Given the description of an element on the screen output the (x, y) to click on. 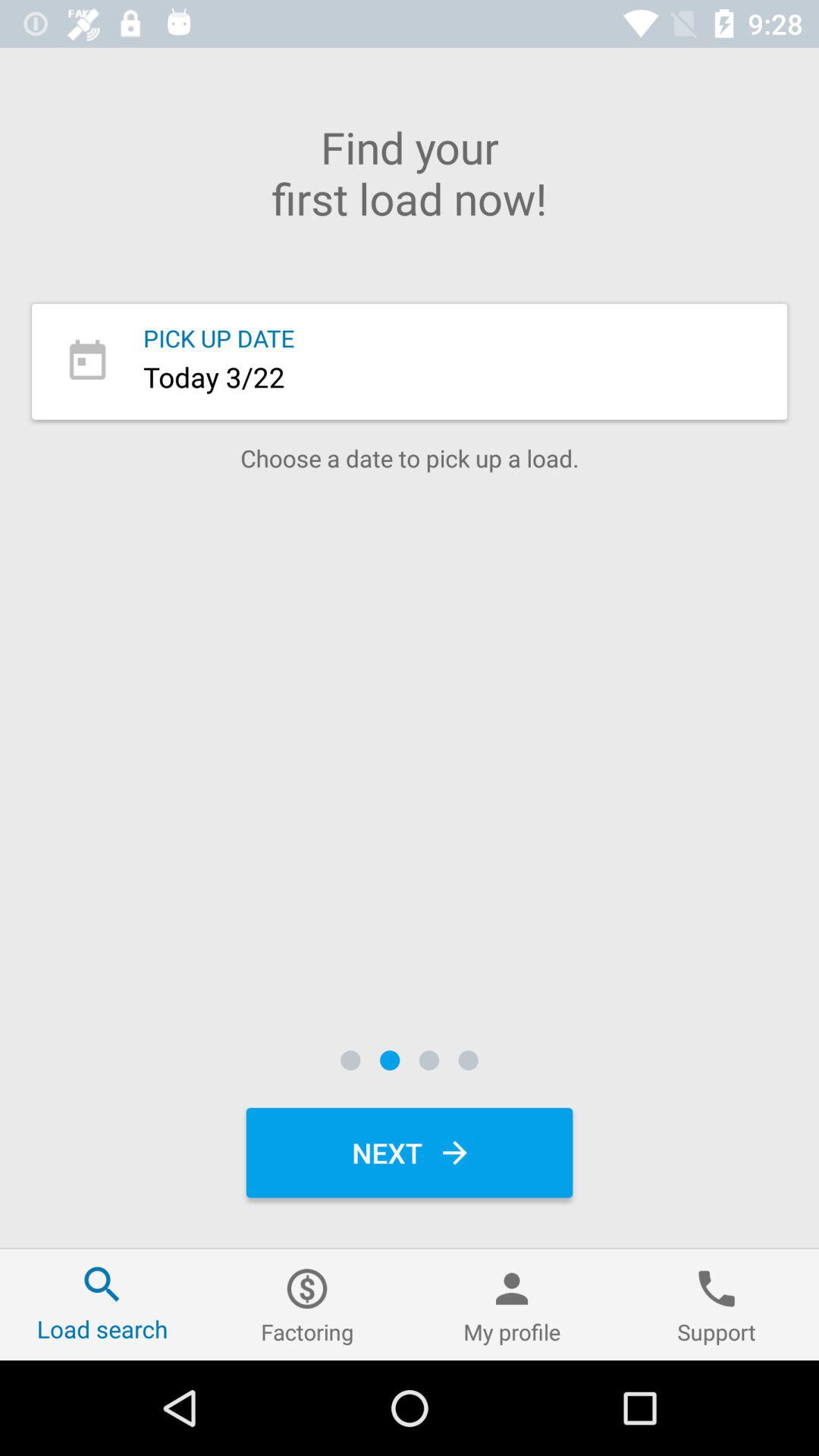
open the item next to the my profile item (306, 1304)
